Given the description of an element on the screen output the (x, y) to click on. 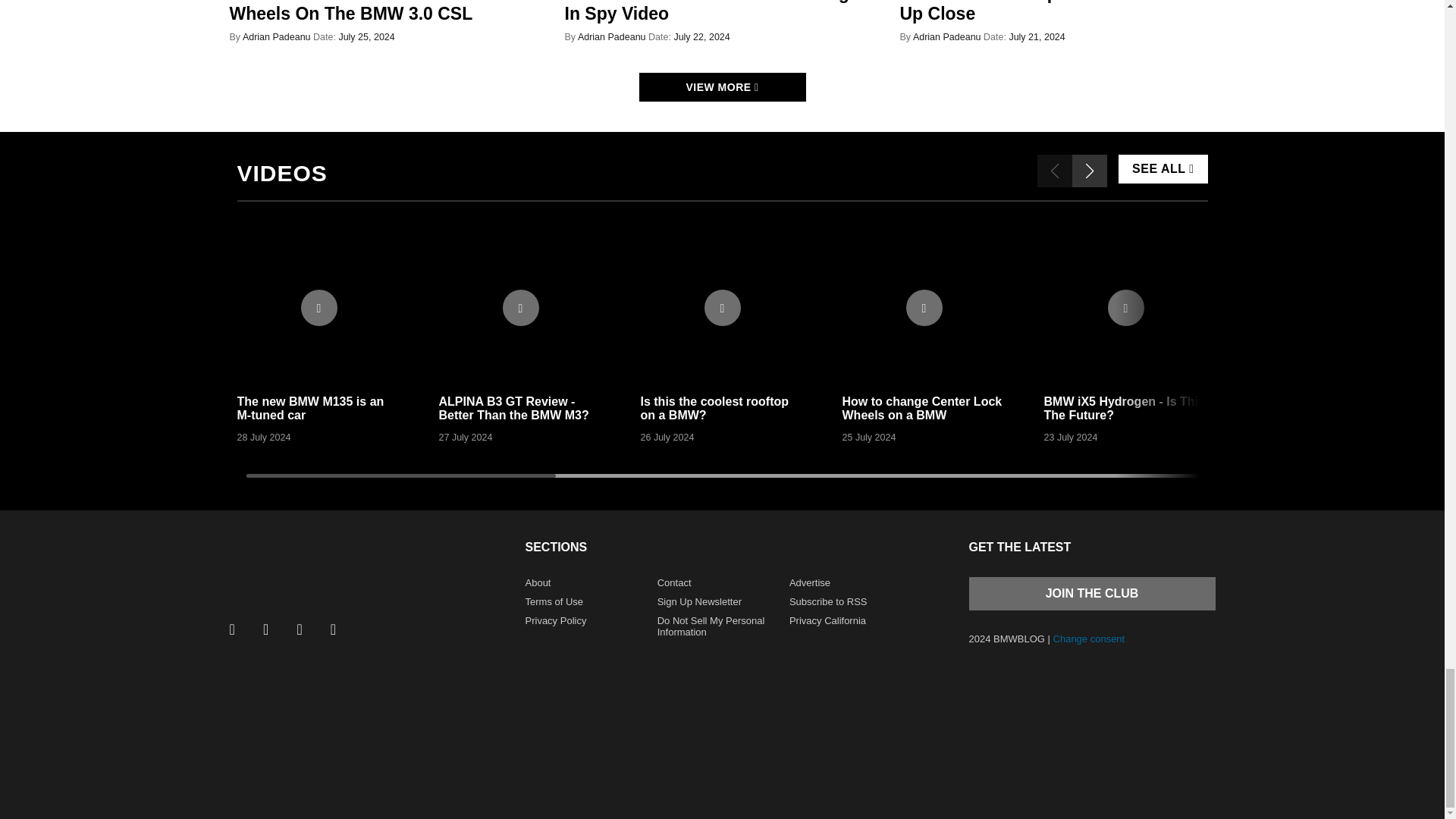
Join the club (1092, 593)
